Given the description of an element on the screen output the (x, y) to click on. 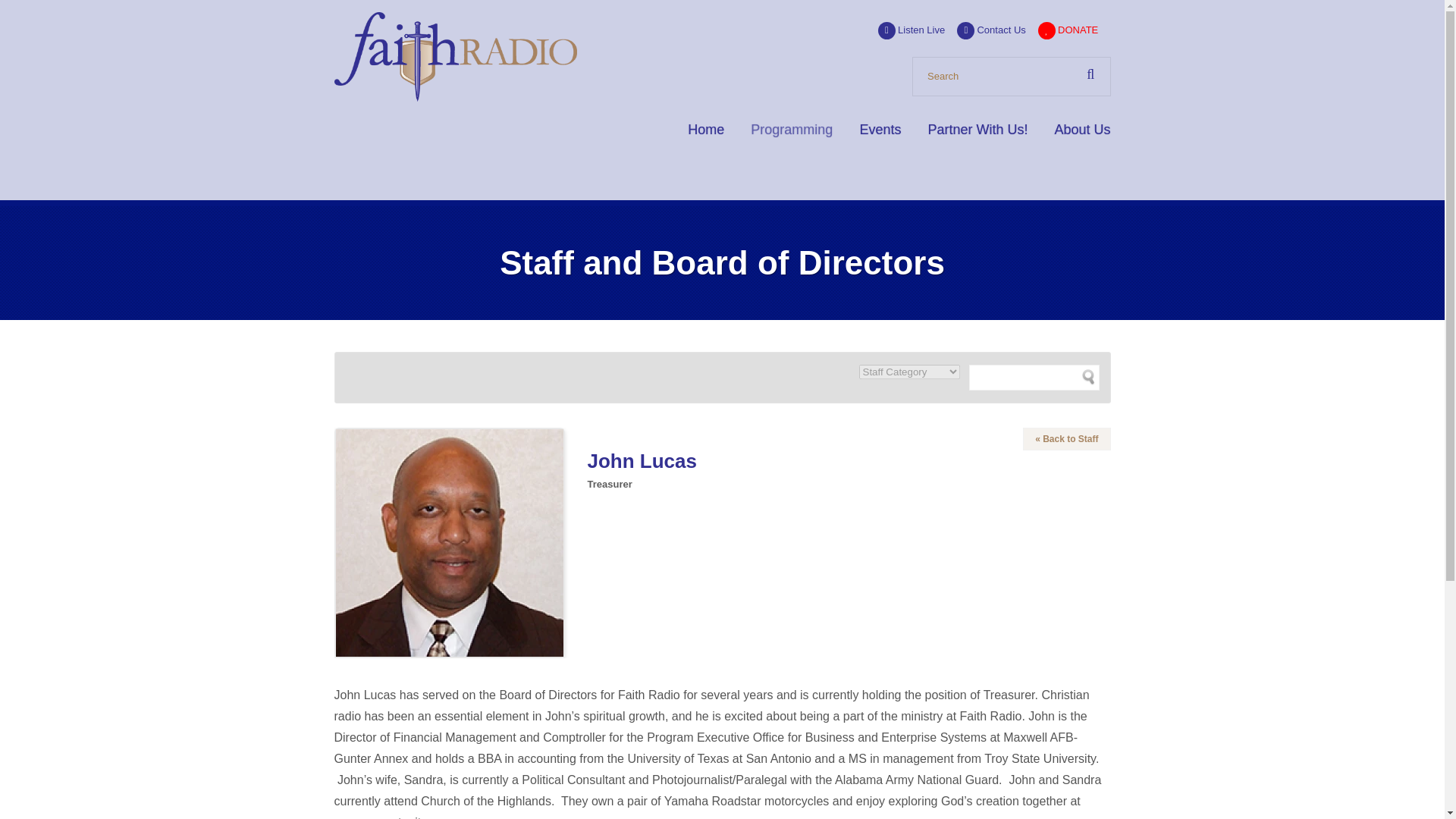
Contact Us (990, 30)
Contact Us (990, 30)
DONATE (1067, 30)
Listen Live (910, 30)
DONATE (1067, 30)
John Lucas (448, 542)
Listen Live (910, 30)
search (1010, 76)
